Given the description of an element on the screen output the (x, y) to click on. 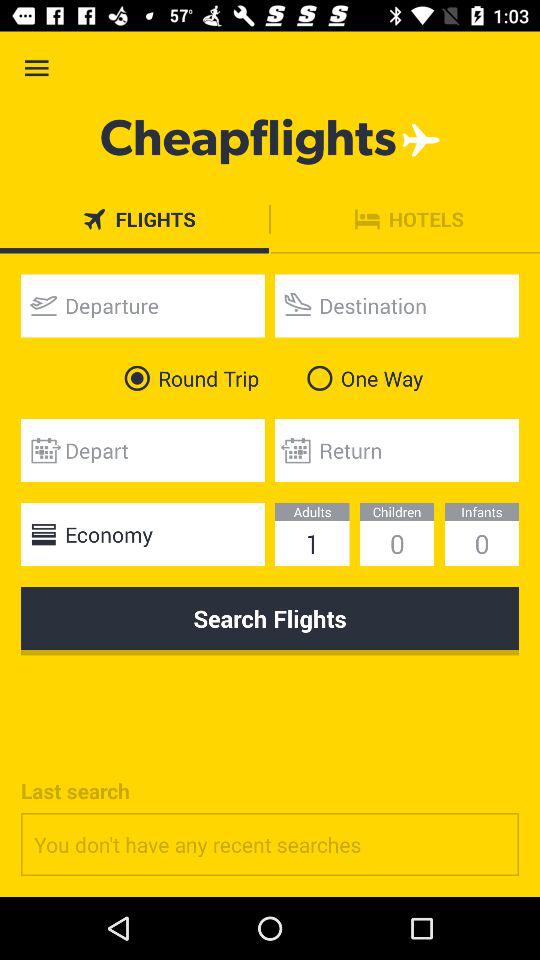
select destination (397, 305)
